Given the description of an element on the screen output the (x, y) to click on. 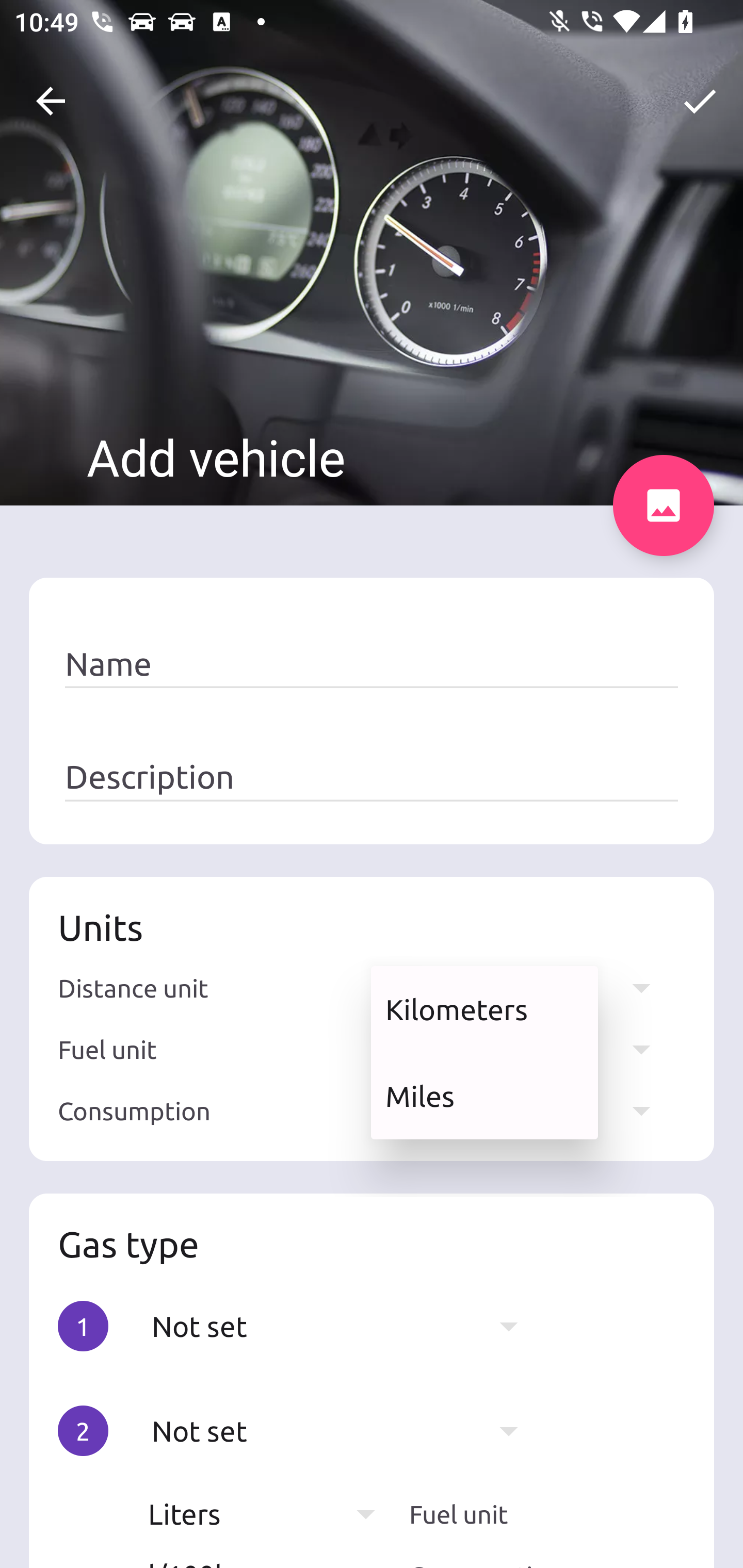
Kilometers (484, 1008)
Miles (484, 1095)
